Given the description of an element on the screen output the (x, y) to click on. 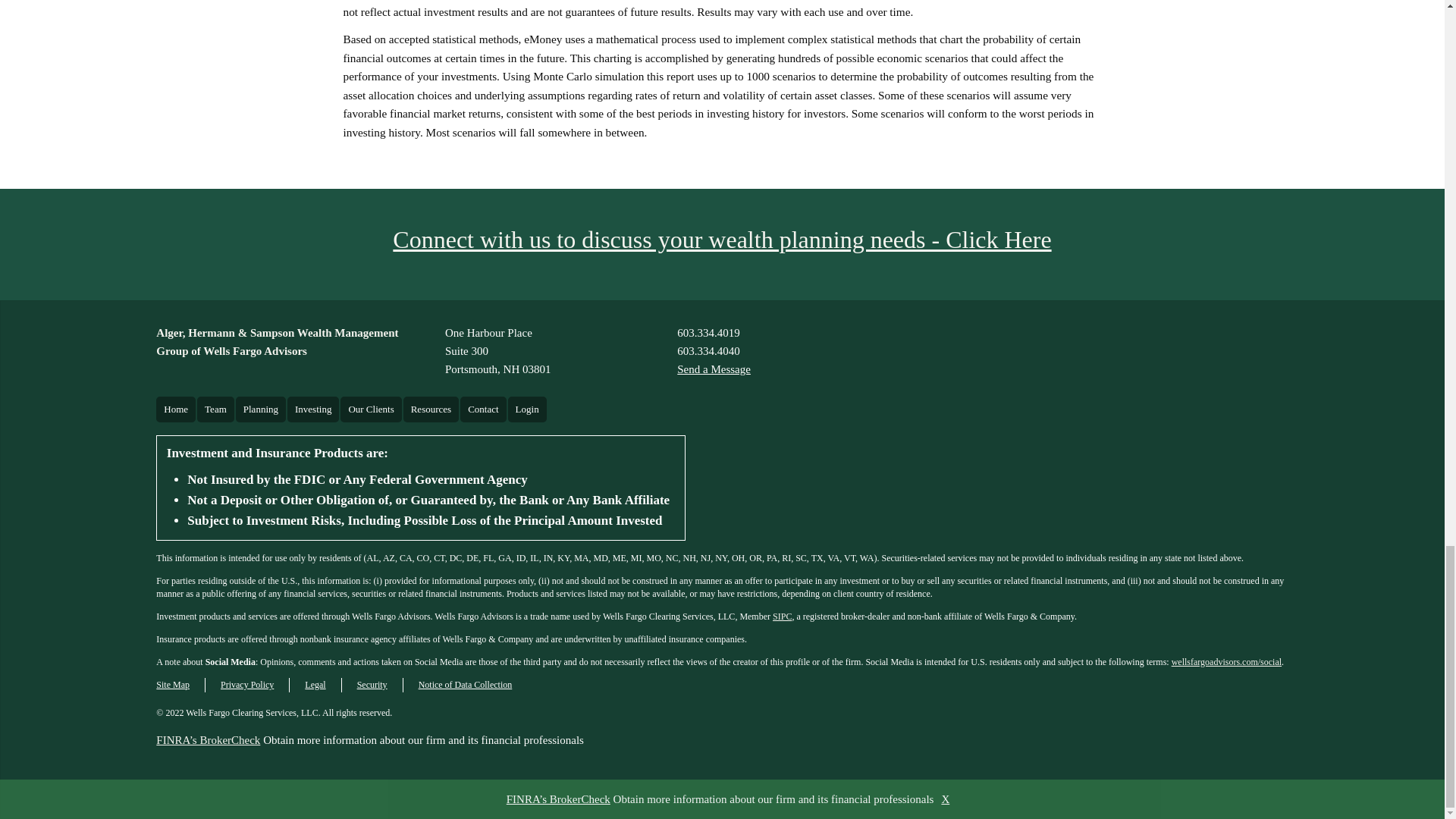
603.334.4019 (498, 350)
Team (708, 332)
Send a Message (215, 409)
603.334.4040 (714, 369)
Home (708, 351)
Planning (175, 409)
